Given the description of an element on the screen output the (x, y) to click on. 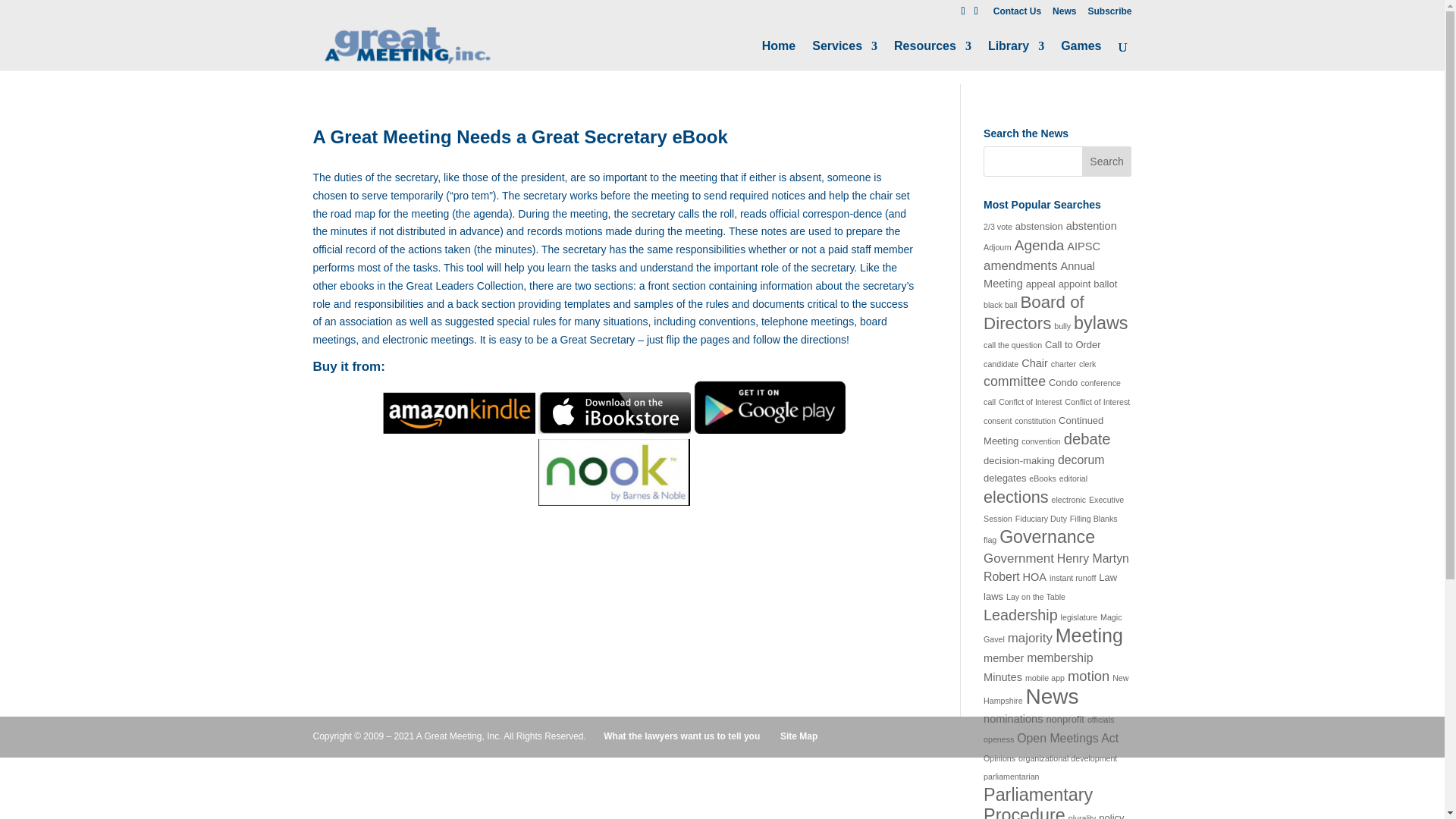
Subscribe (1109, 14)
Library (1015, 54)
Search (1106, 161)
Search (1106, 161)
black ball (1000, 304)
bylaws (1100, 322)
Services (844, 54)
abstension (1038, 225)
bully (1062, 325)
appoint (1074, 283)
